Given the description of an element on the screen output the (x, y) to click on. 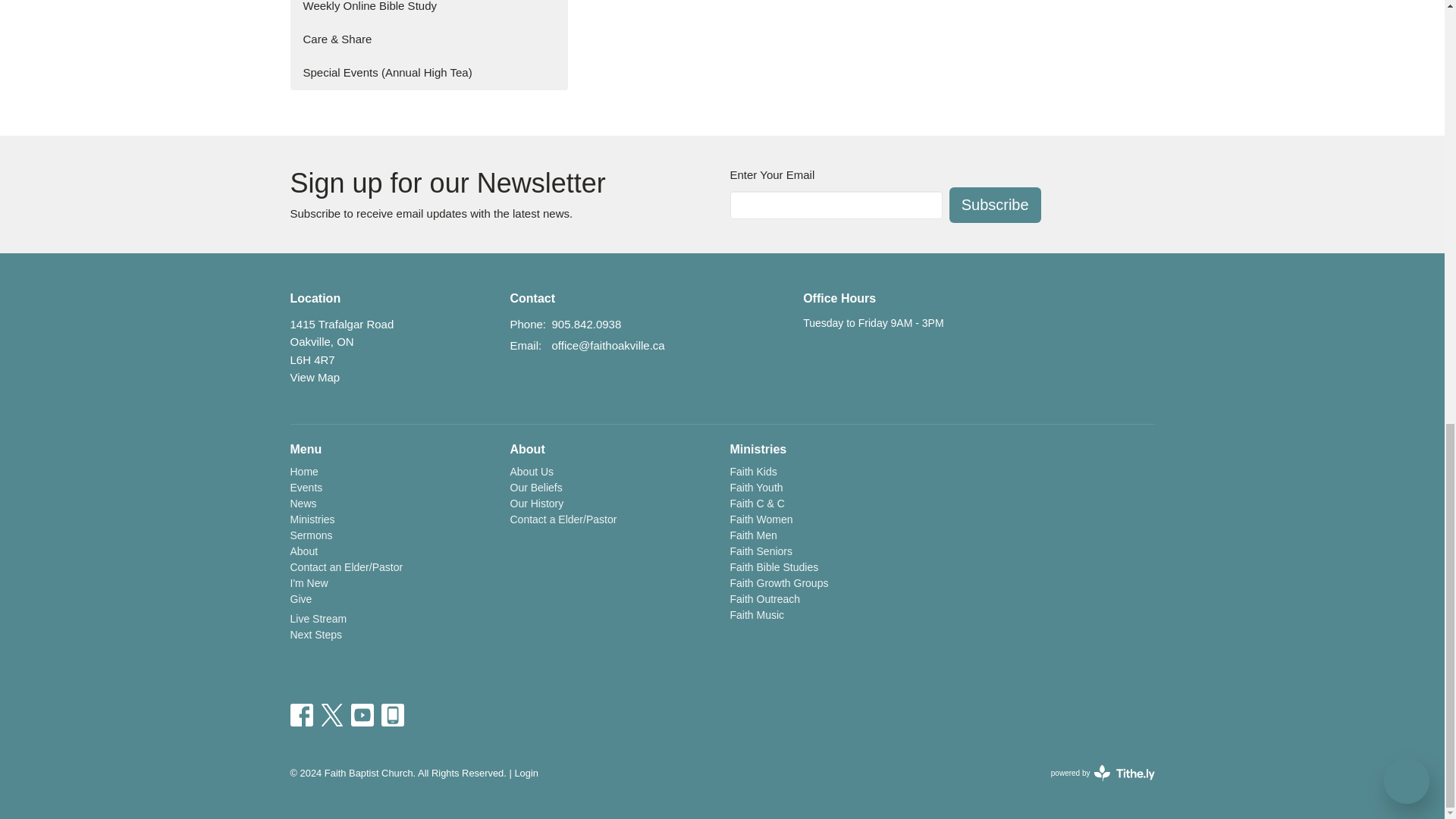
View Map (314, 377)
I'm New (308, 582)
Events (305, 487)
Ministries (311, 519)
Home (303, 471)
Sermons (310, 535)
News (302, 503)
translation missing: en.ui.email (523, 345)
905.842.0938 (586, 323)
About (303, 551)
